Given the description of an element on the screen output the (x, y) to click on. 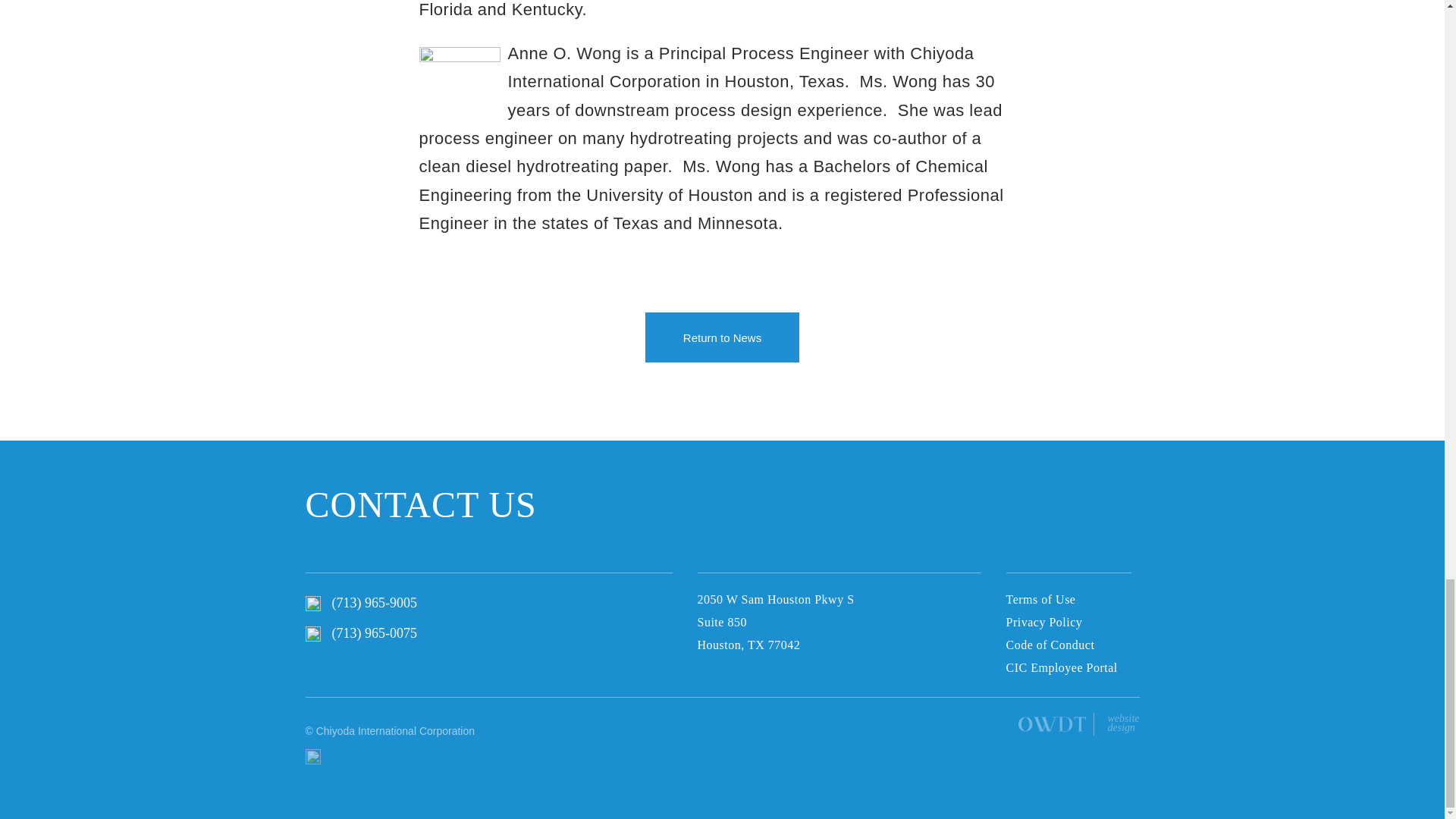
Code of Conduct (1050, 644)
CONTACT US (419, 505)
Return to News (722, 337)
Terms of Use (1040, 599)
CIC Employee Portal (1122, 723)
Privacy Policy (1061, 667)
